Given the description of an element on the screen output the (x, y) to click on. 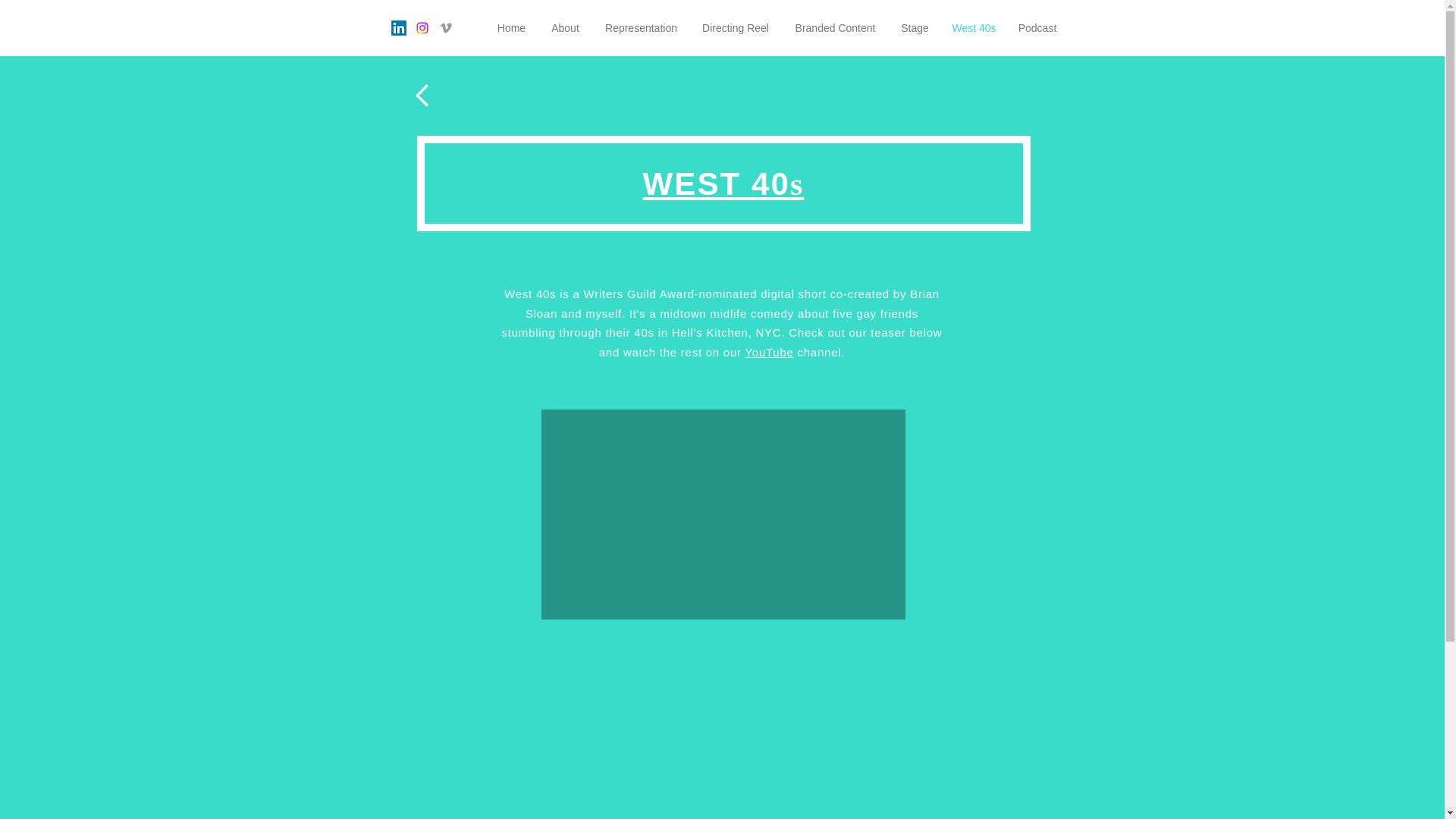
Home (511, 27)
Podcast (1037, 27)
YouTube (768, 351)
External YouTube (723, 514)
WEST 40s (724, 183)
About (565, 27)
Representation (641, 27)
West 40s (973, 27)
Branded Content (834, 27)
Directing Reel (735, 27)
Stage (914, 27)
